Given the description of an element on the screen output the (x, y) to click on. 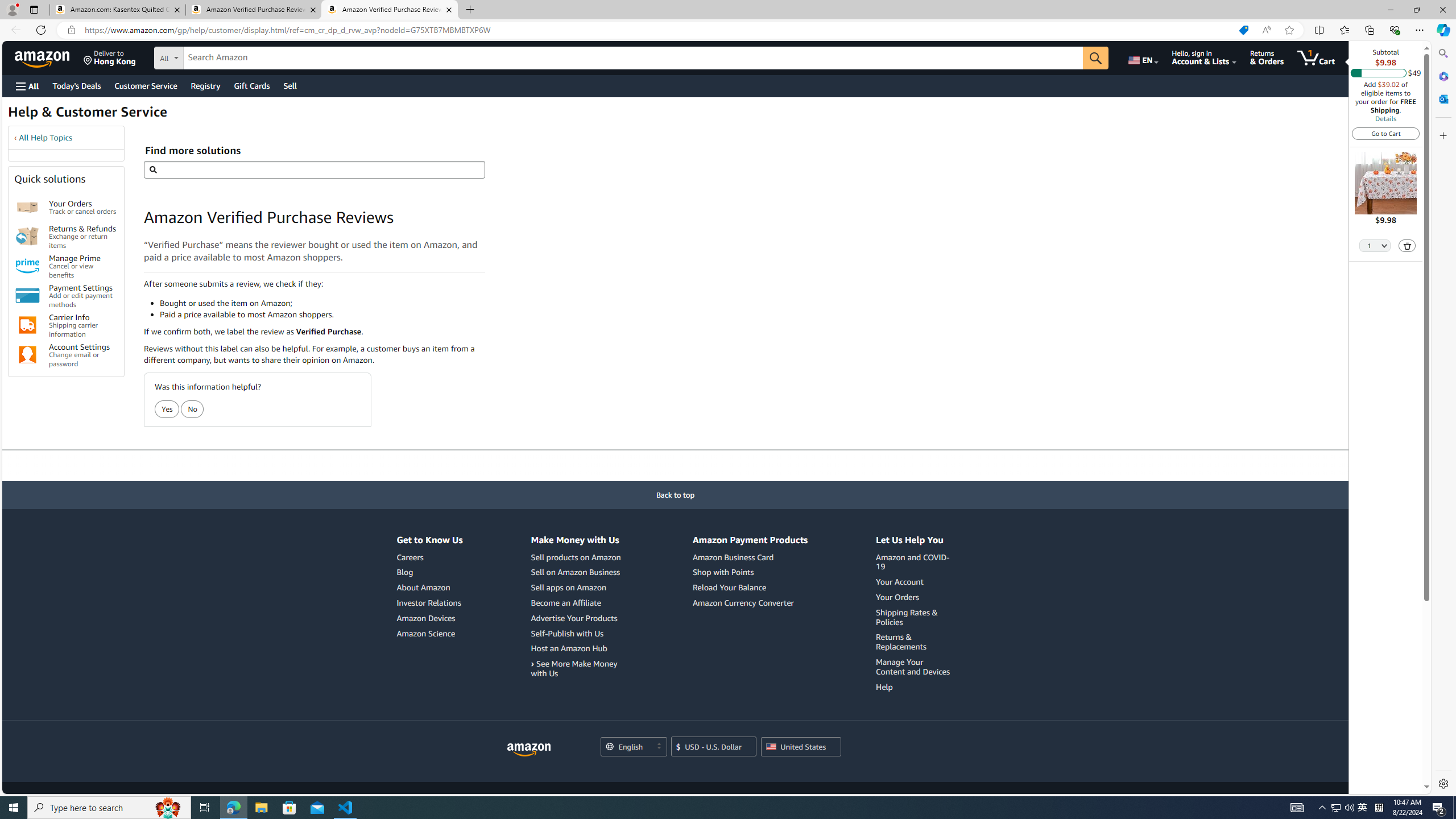
Carrier Info (27, 325)
Blog (404, 572)
Help (914, 687)
Account Settings (27, 354)
Manage Prime Cancel or view benefits (82, 266)
Read aloud this page (Ctrl+Shift+U) (1266, 29)
Your Orders (27, 207)
See More Make Money with Us (573, 668)
Host an Amazon Hub (568, 648)
Sell (290, 85)
Quantity Selector (1374, 245)
Investor Relations (429, 602)
Shop with Points (749, 572)
All Help Topics (45, 137)
Find more solutions (314, 169)
